Given the description of an element on the screen output the (x, y) to click on. 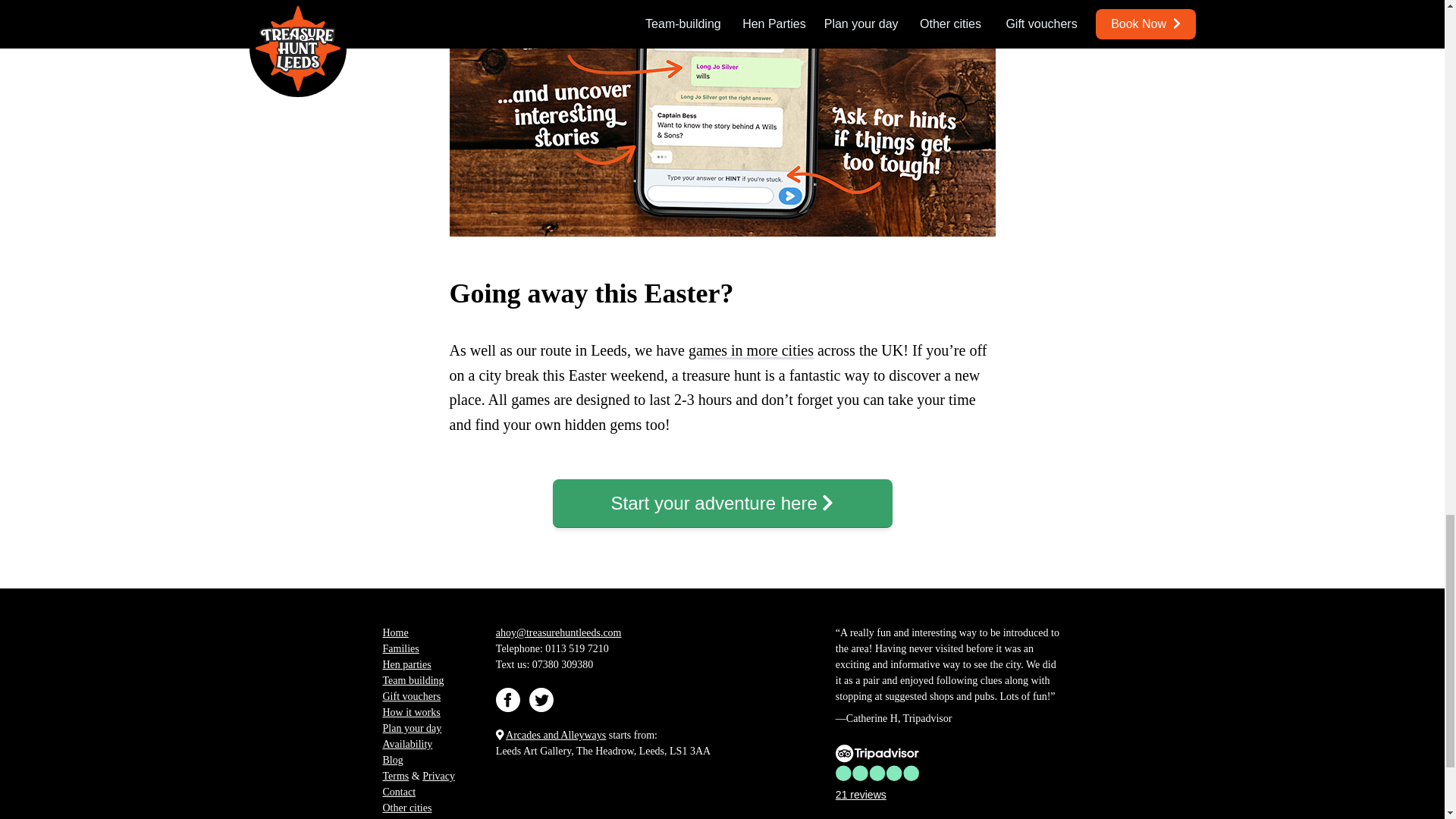
Privacy (438, 776)
Home (394, 632)
Arcades and Alleyways (555, 735)
Start your adventure here (721, 503)
Terms (395, 776)
07380 309380 (563, 664)
Contact (397, 791)
Families (400, 648)
Availability (406, 744)
Hen parties (405, 664)
How it works (410, 712)
games in more cities (750, 350)
Blog (392, 759)
Other cities (405, 808)
Team building (412, 680)
